Given the description of an element on the screen output the (x, y) to click on. 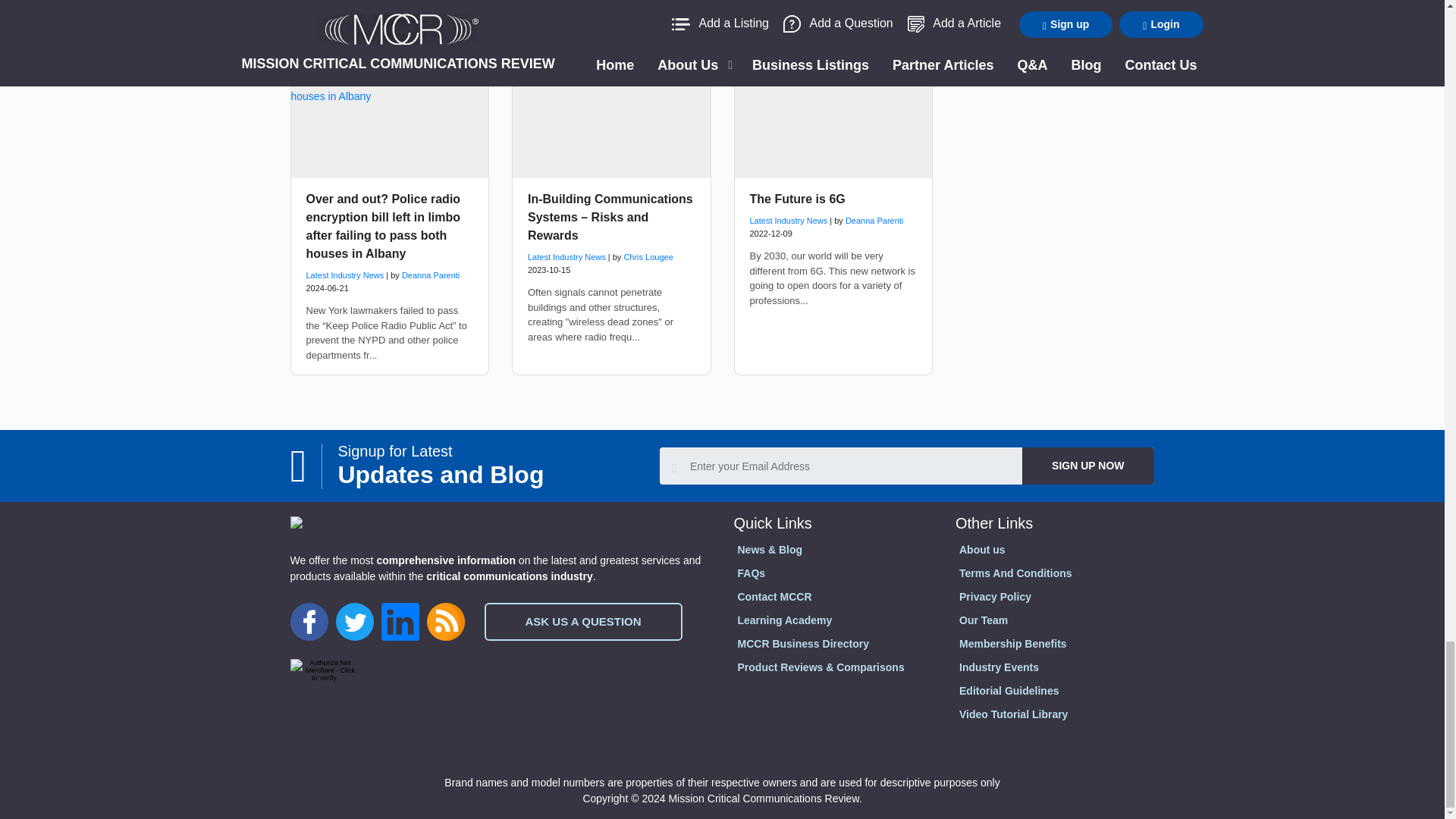
Latest Industry News (344, 275)
SIGN UP NOW (1088, 465)
Latest Industry News (788, 220)
Chris Lougee (647, 256)
Deanna Parenti (873, 220)
Latest Industry News (566, 256)
Deanna Parenti (430, 275)
